Given the description of an element on the screen output the (x, y) to click on. 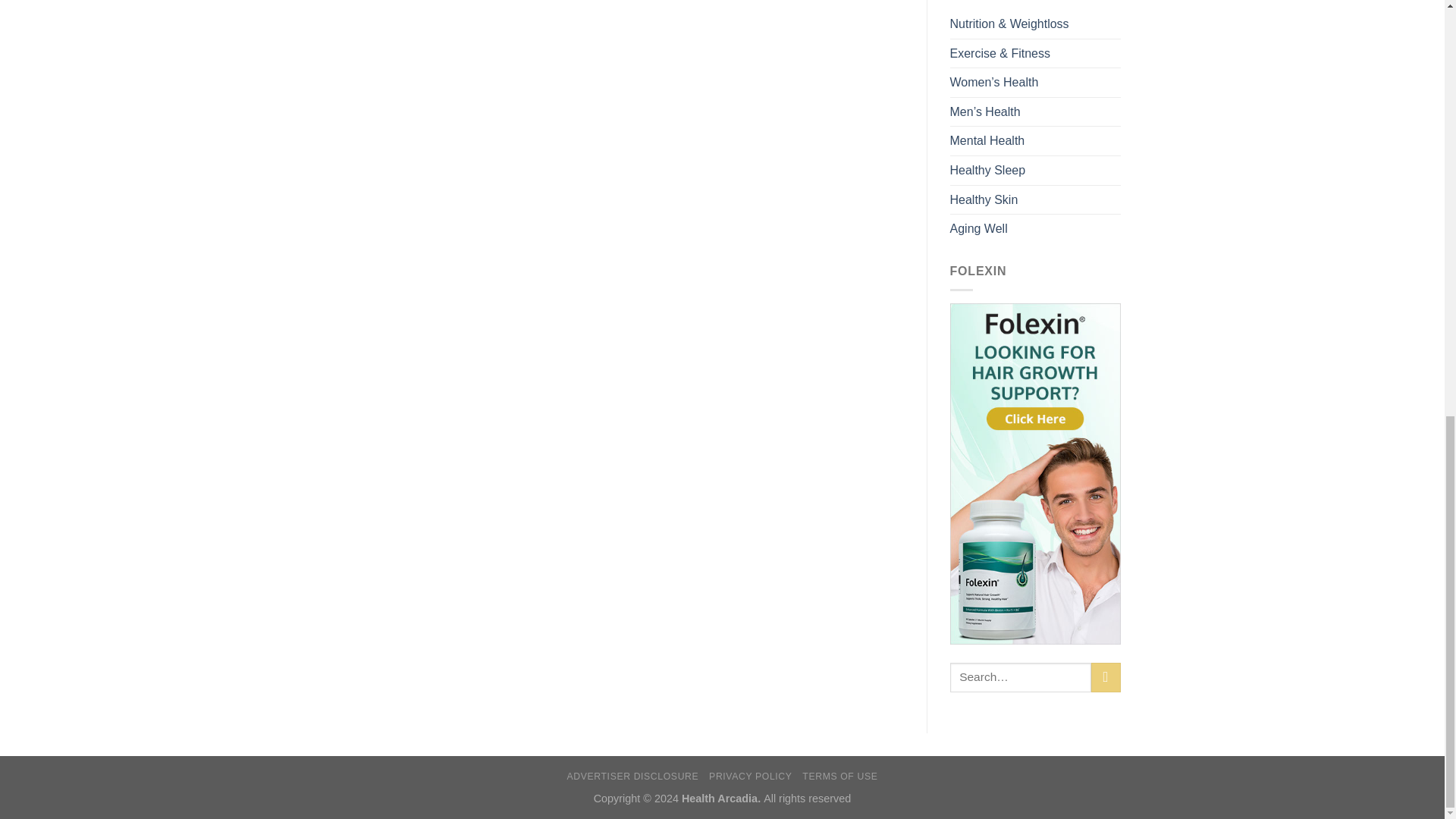
Aging Well (978, 228)
Healthy Skin (983, 199)
TERMS OF USE (839, 776)
Mental Health (987, 140)
ADVERTISER DISCLOSURE (632, 776)
Healthy Sleep (987, 170)
PRIVACY POLICY (750, 776)
